Given the description of an element on the screen output the (x, y) to click on. 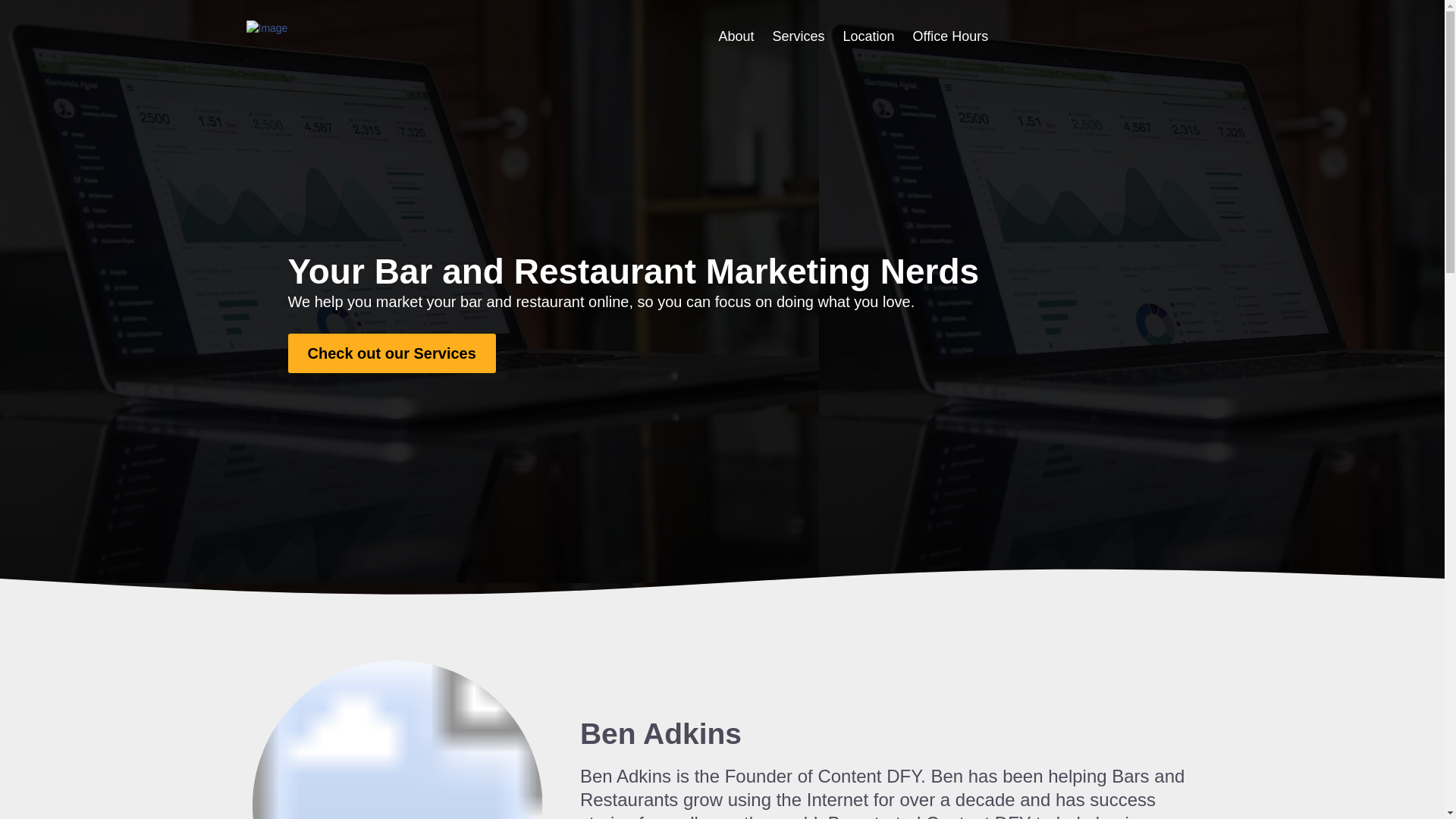
About (735, 36)
Services (797, 36)
Check out our Services (392, 353)
Office Hours (950, 36)
Location (868, 36)
